Given the description of an element on the screen output the (x, y) to click on. 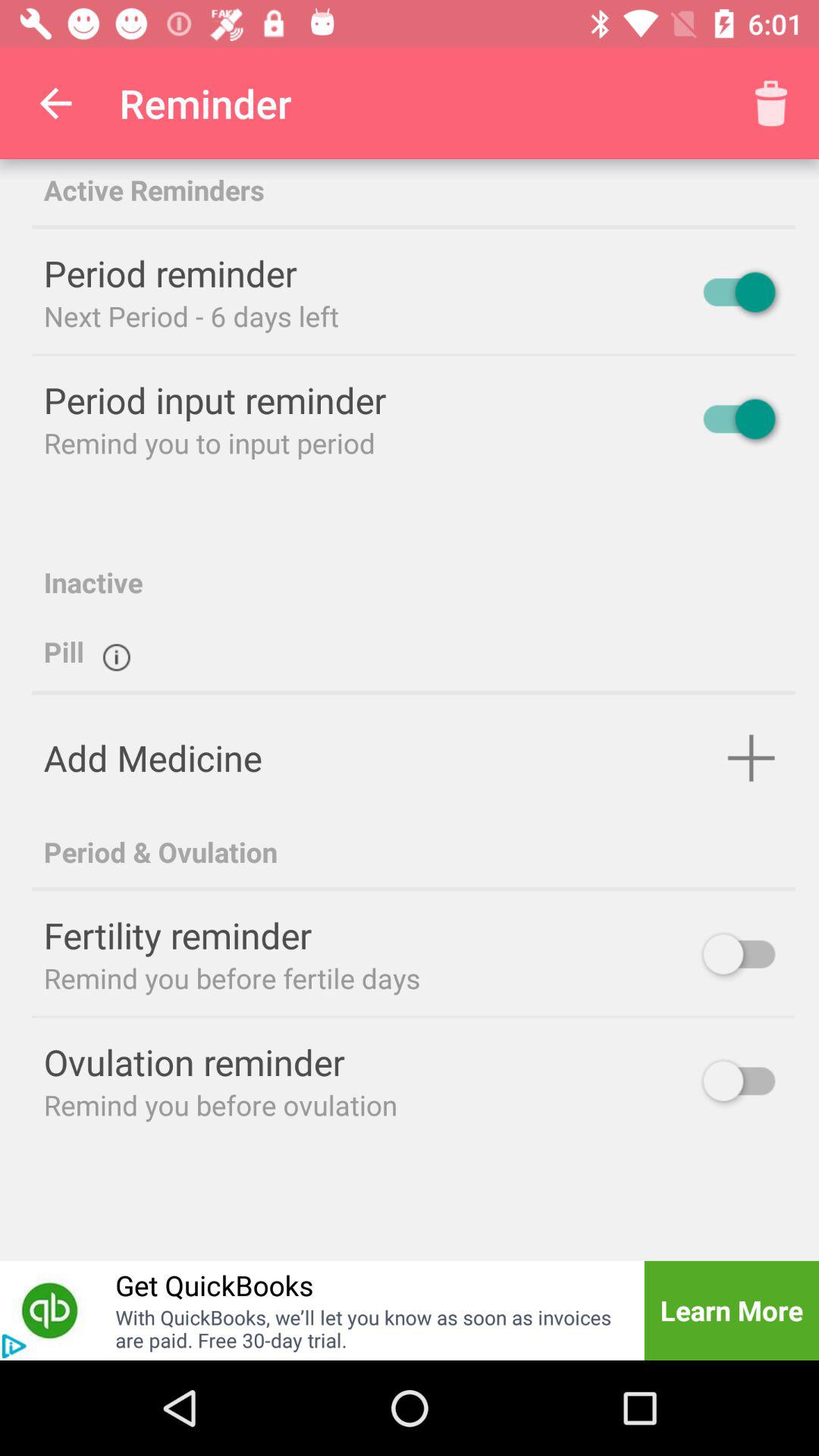
advertisement button (14, 1346)
